Given the description of an element on the screen output the (x, y) to click on. 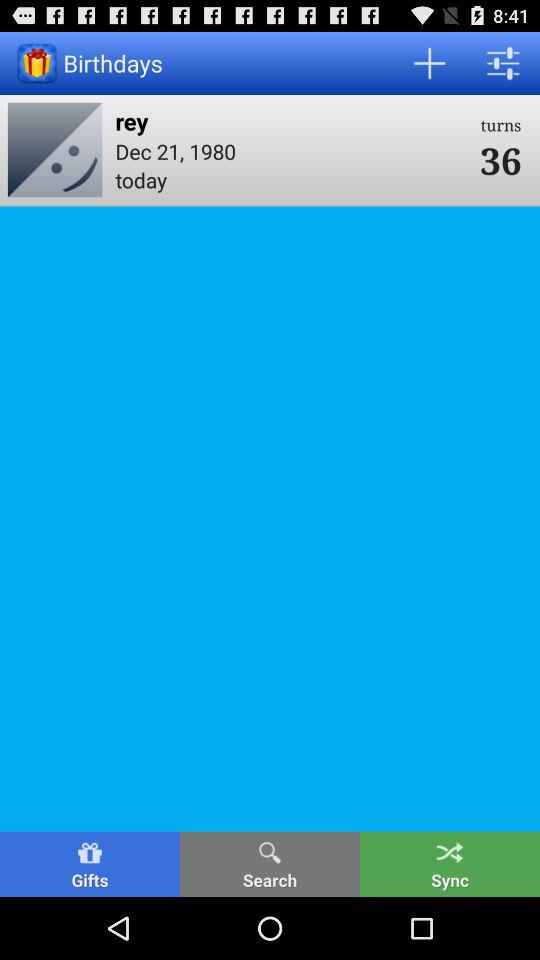
tap the icon at the bottom left corner (90, 863)
